Given the description of an element on the screen output the (x, y) to click on. 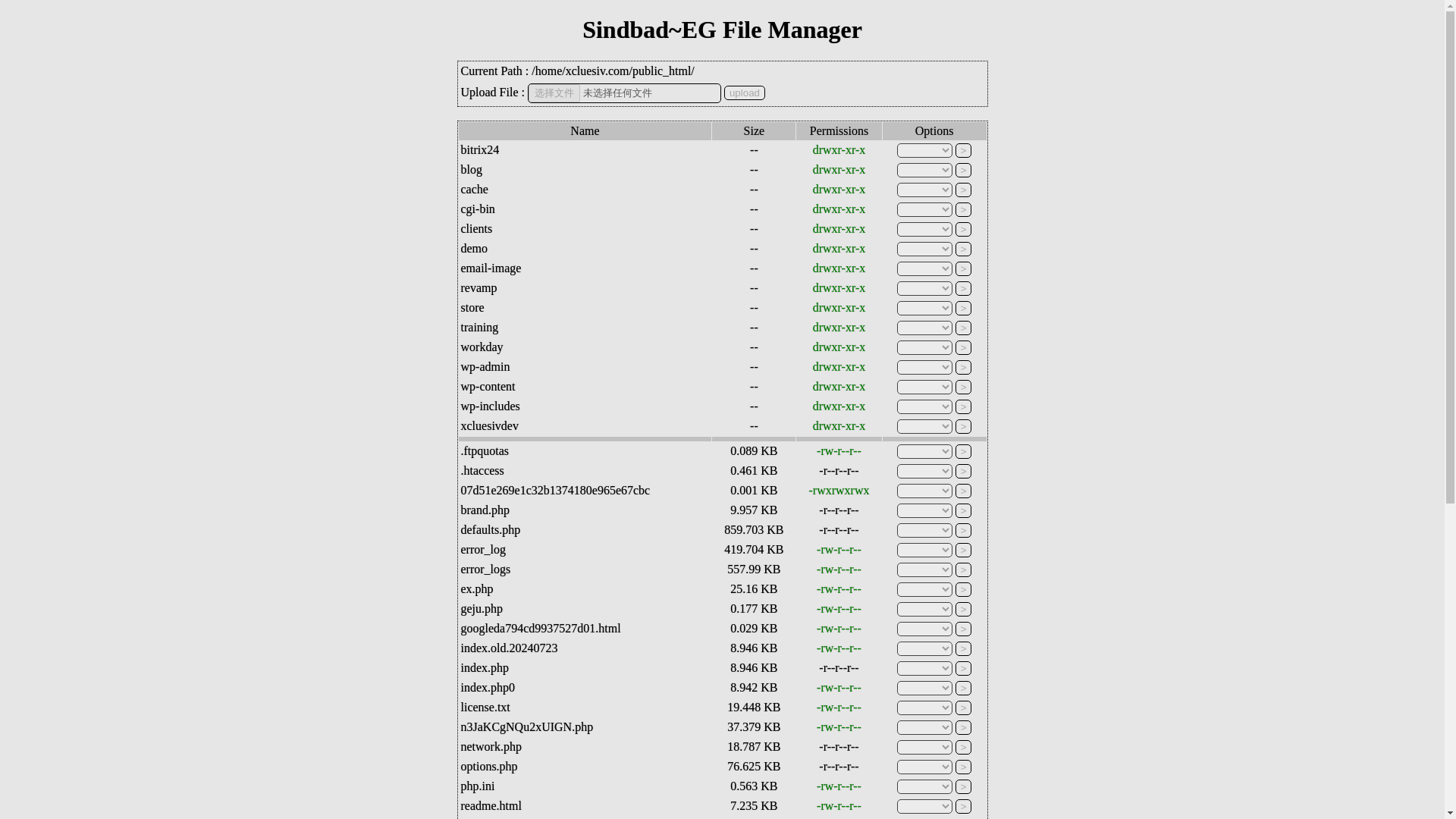
email-image (491, 267)
store (472, 307)
07d51e269e1c32b1374180e965e67cbc (555, 490)
training (480, 327)
revamp (479, 287)
wp-content (488, 386)
.ftpquotas (485, 450)
bitrix24 (480, 149)
workday (482, 346)
upload (744, 92)
xcluesivdev (489, 425)
wp-admin (486, 366)
cgi-bin (478, 208)
blog (471, 169)
xcluesiv.com (597, 70)
